Given the description of an element on the screen output the (x, y) to click on. 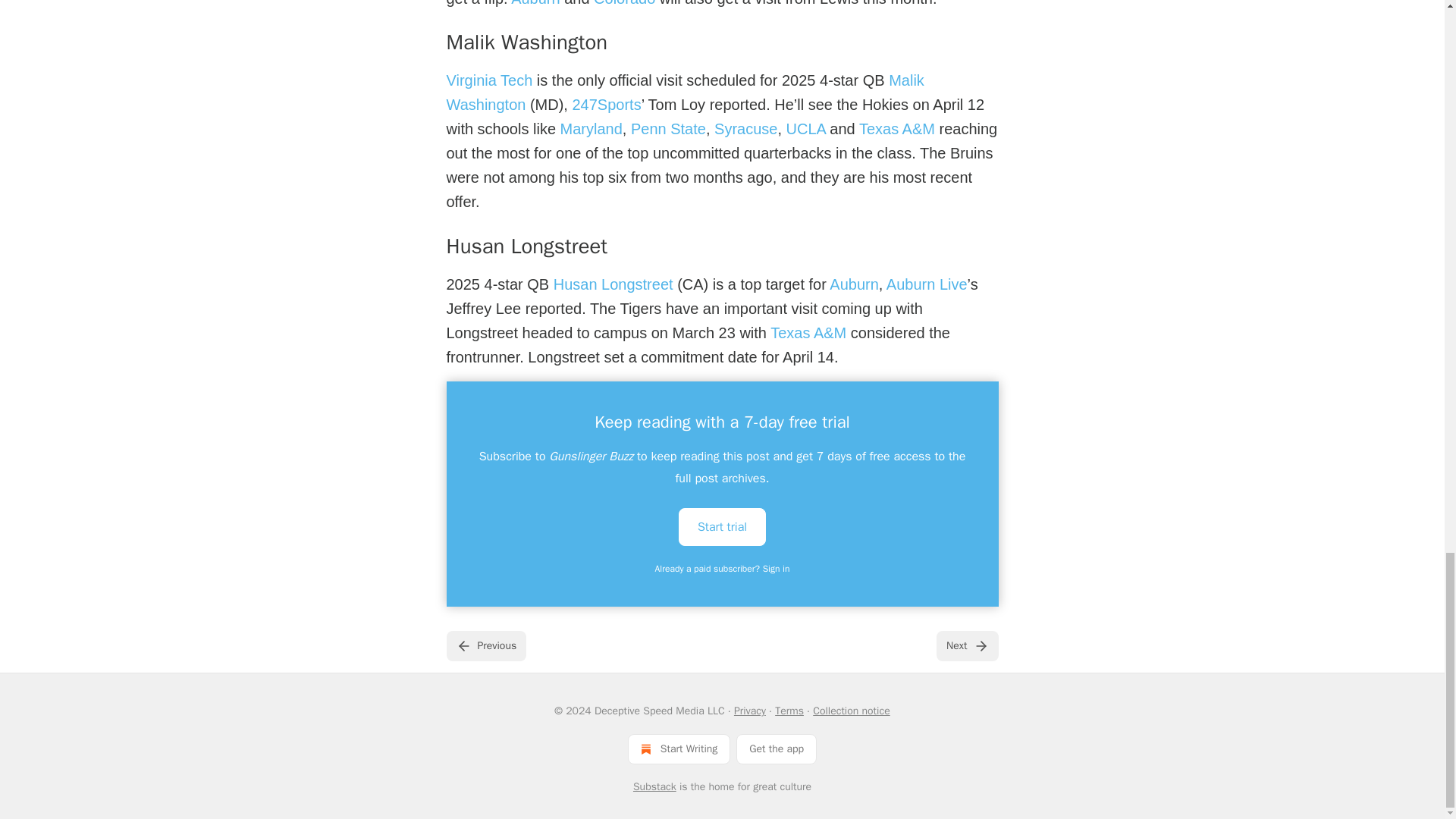
Auburn (535, 3)
247Sports (606, 104)
Virginia Tech (488, 80)
Colorado (624, 3)
Malik Washington (684, 92)
Maryland (591, 128)
